Given the description of an element on the screen output the (x, y) to click on. 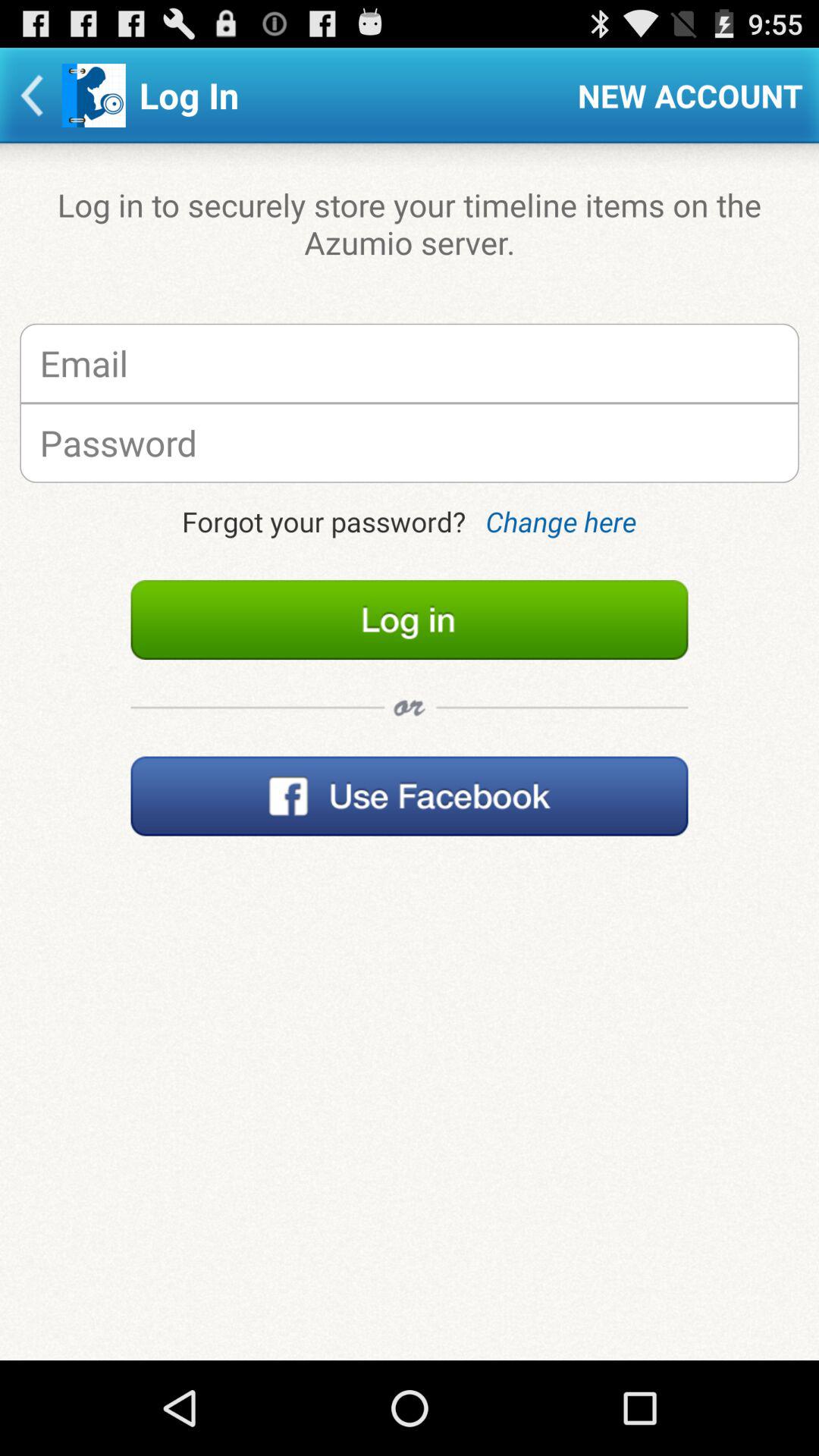
log in (409, 619)
